Given the description of an element on the screen output the (x, y) to click on. 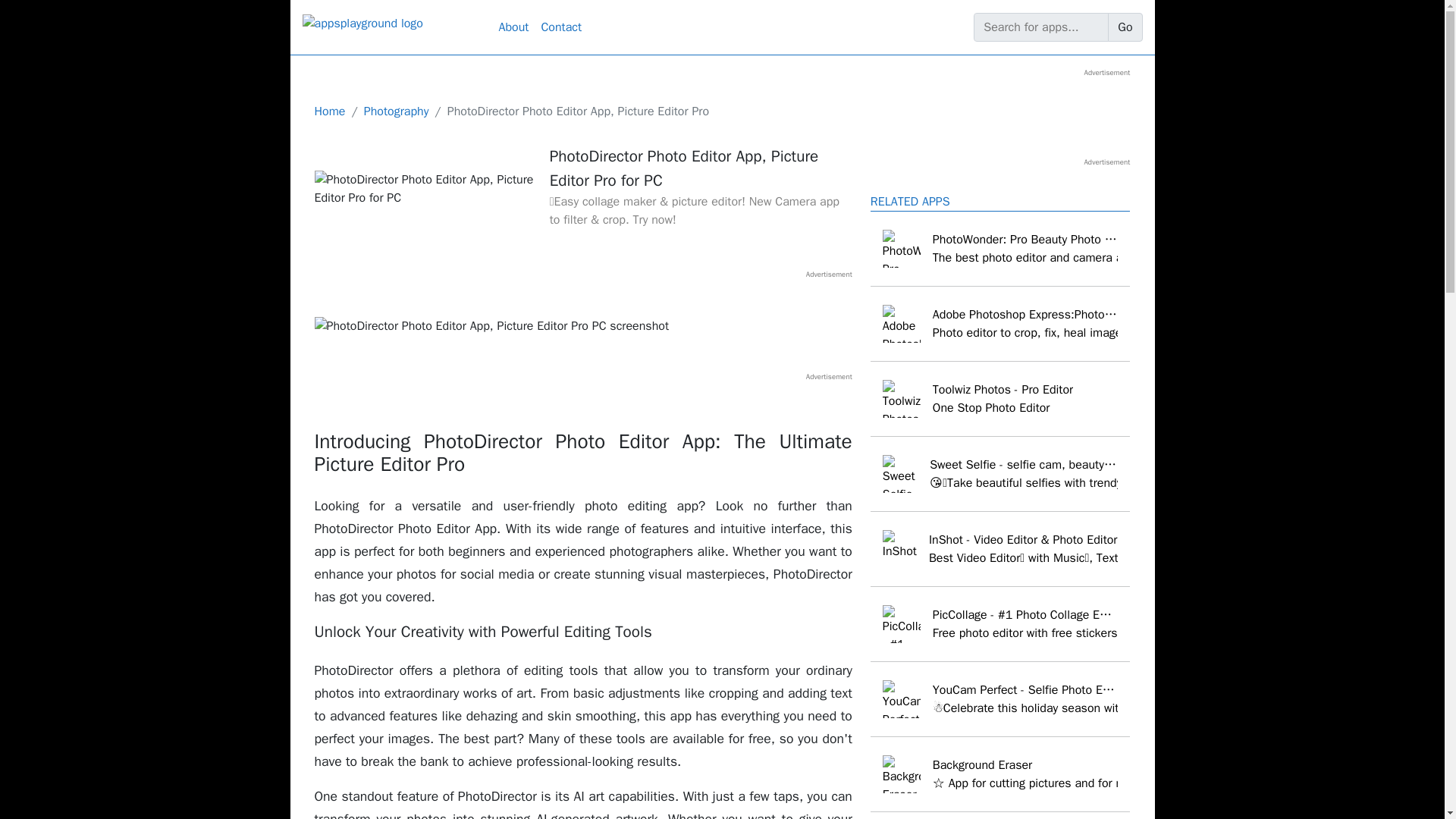
Photography (396, 111)
Adobe Photoshop Express:Photo Editor Collage Maker for PC (1000, 323)
PhotoDirector Photo Editor App, Picture Editor Pro for PC (425, 188)
Contact (561, 27)
Sweet Selfie - selfie cam, beauty cam, photo edit for PC (1000, 474)
About (514, 27)
YouCam Perfect - Selfie Photo Editor for PC (1000, 699)
Toolwiz Photos - Pro Editor for PC (1000, 398)
Home (329, 111)
